Given the description of an element on the screen output the (x, y) to click on. 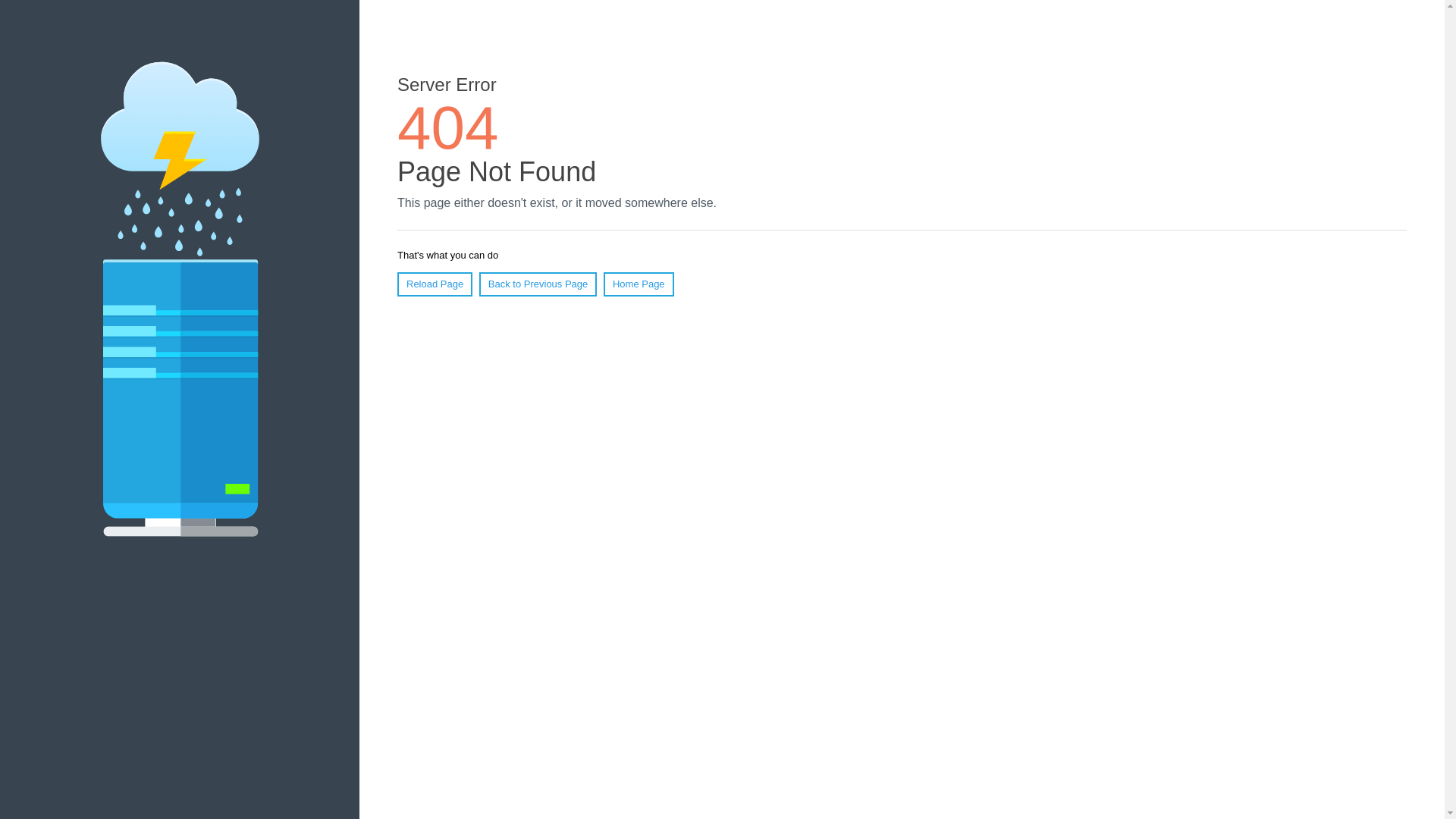
Reload Page Element type: text (434, 284)
Home Page Element type: text (638, 284)
Back to Previous Page Element type: text (538, 284)
